Given the description of an element on the screen output the (x, y) to click on. 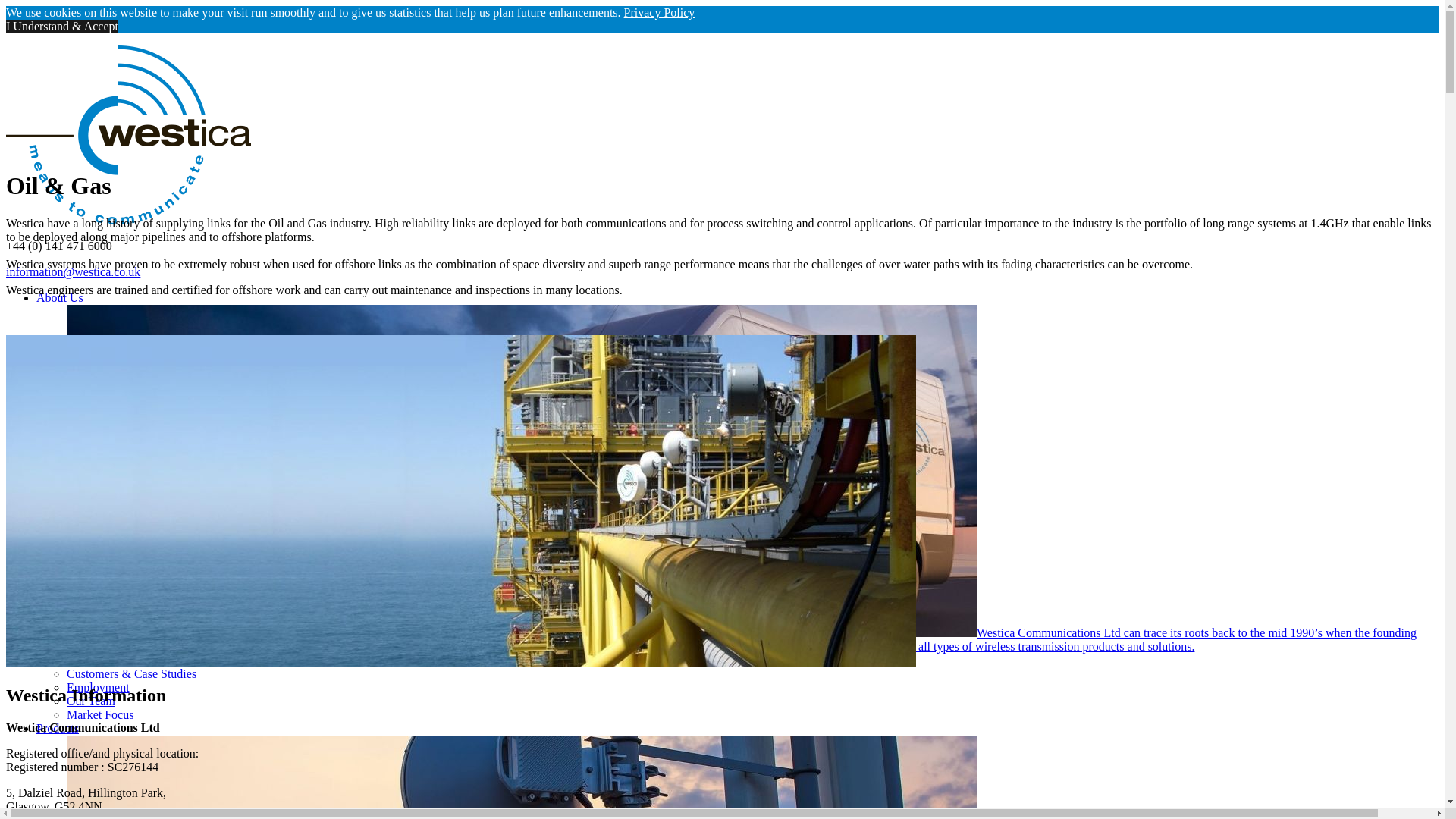
Products (57, 727)
Latest News (97, 659)
Privacy Policy (659, 11)
Employment (97, 686)
About Us (59, 297)
Our Team (90, 700)
Market Focus (99, 714)
